Given the description of an element on the screen output the (x, y) to click on. 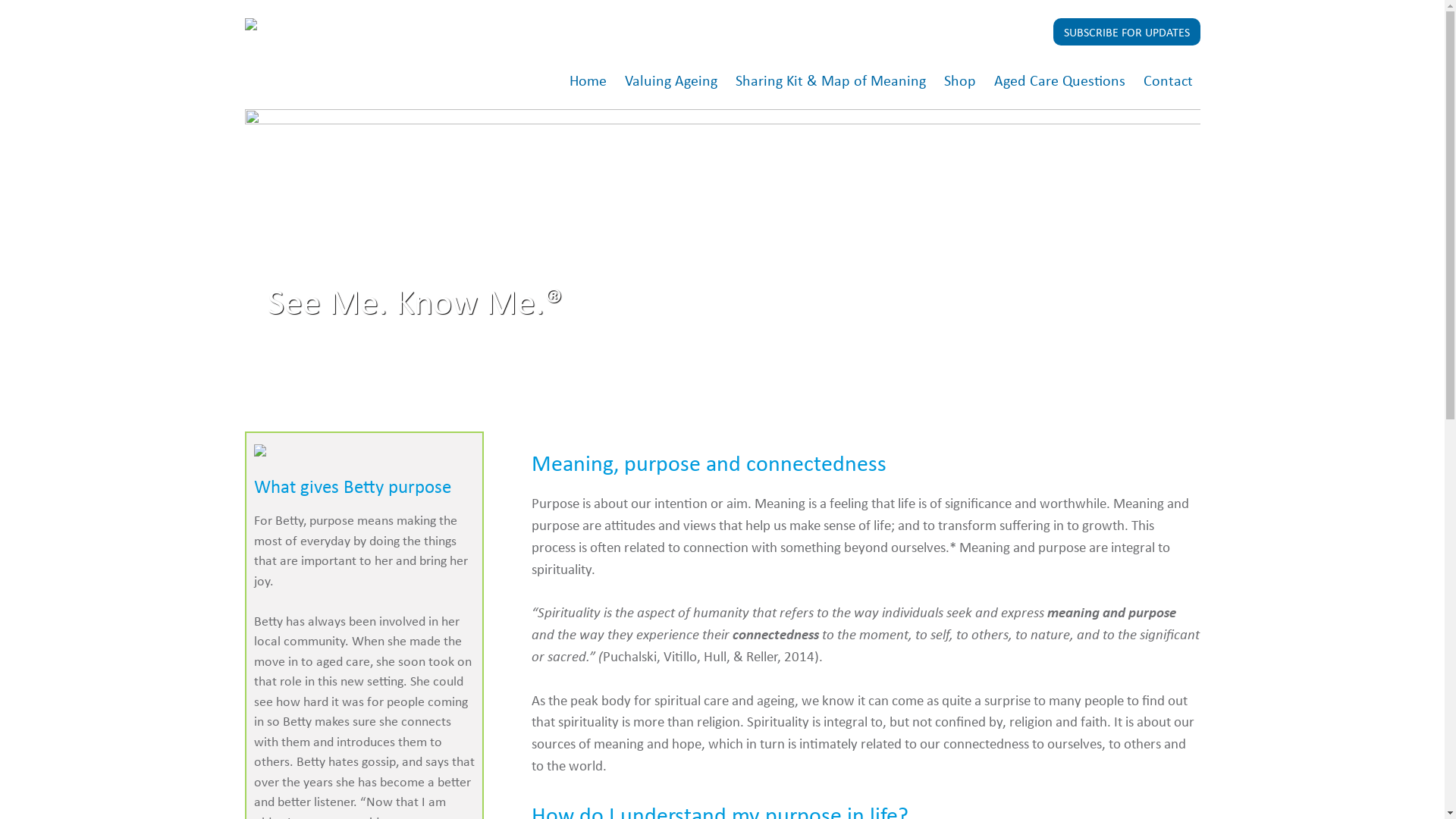
Shop Element type: text (959, 80)
Valuing Ageing Element type: text (670, 80)
SUBSCRIBE FOR UPDATES Element type: text (1125, 31)
Aged Care Questions Element type: text (1058, 80)
Home Element type: text (586, 80)
Contact Element type: text (1167, 80)
Sharing Kit & Map of Meaning Element type: text (830, 80)
